Given the description of an element on the screen output the (x, y) to click on. 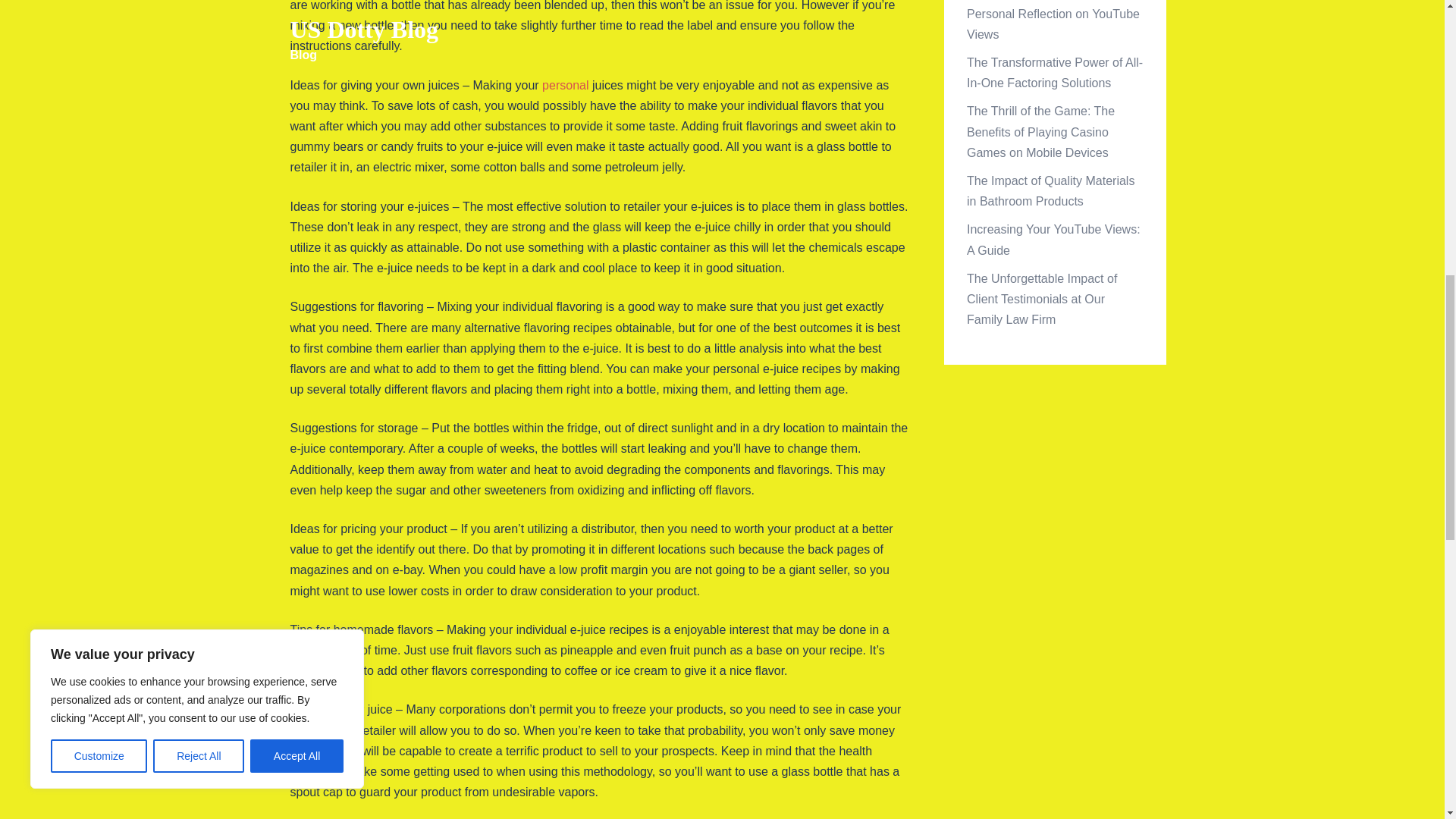
personal (564, 84)
